Given the description of an element on the screen output the (x, y) to click on. 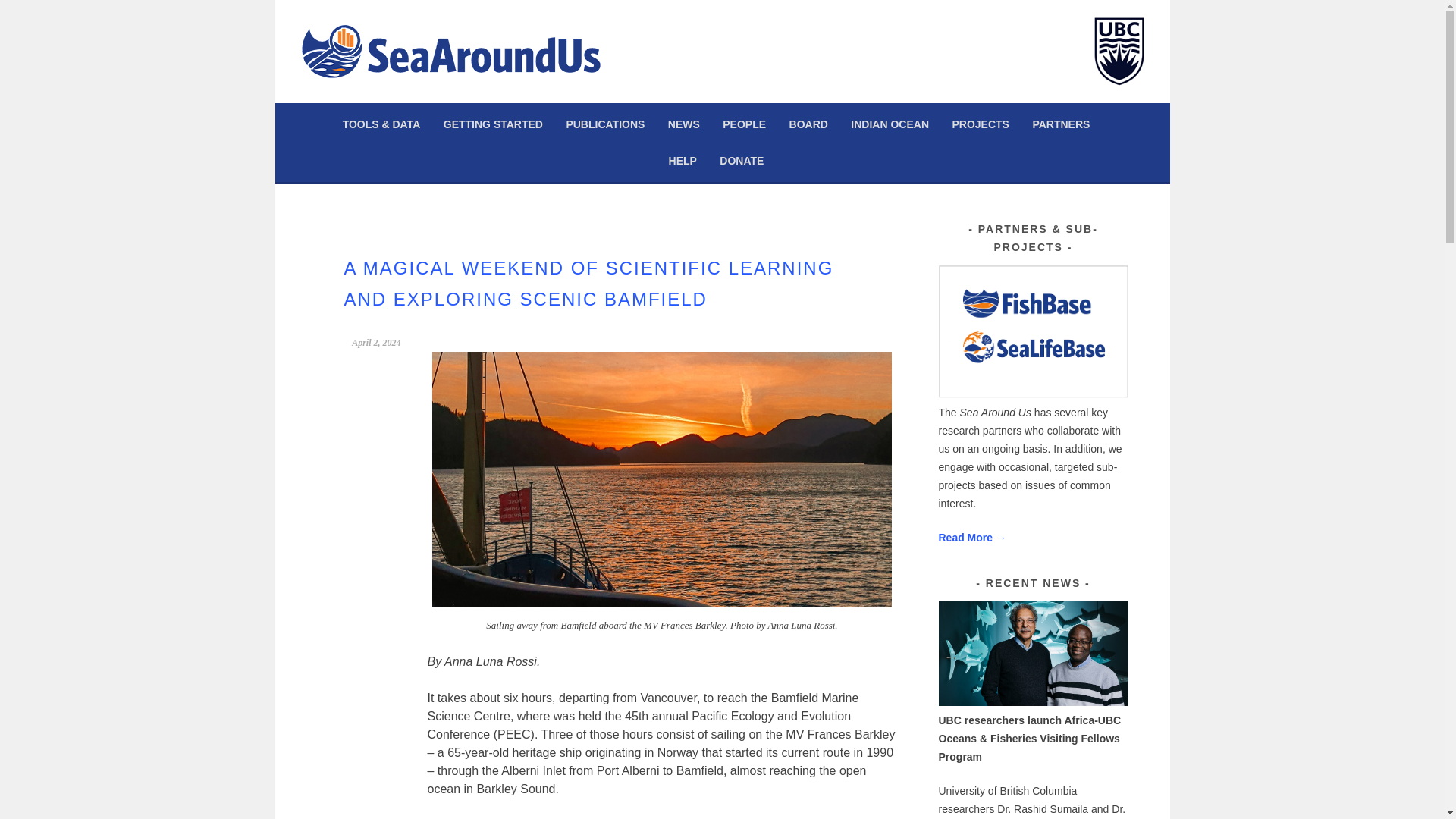
April 2, 2024 (376, 342)
BOARD (808, 124)
HELP (682, 160)
DONATE (741, 160)
PARTNERS (1060, 124)
PROJECTS (979, 124)
NEWS (683, 124)
INDIAN OCEAN (890, 124)
GETTING STARTED (493, 124)
PEOPLE (744, 124)
PUBLICATIONS (604, 124)
